Given the description of an element on the screen output the (x, y) to click on. 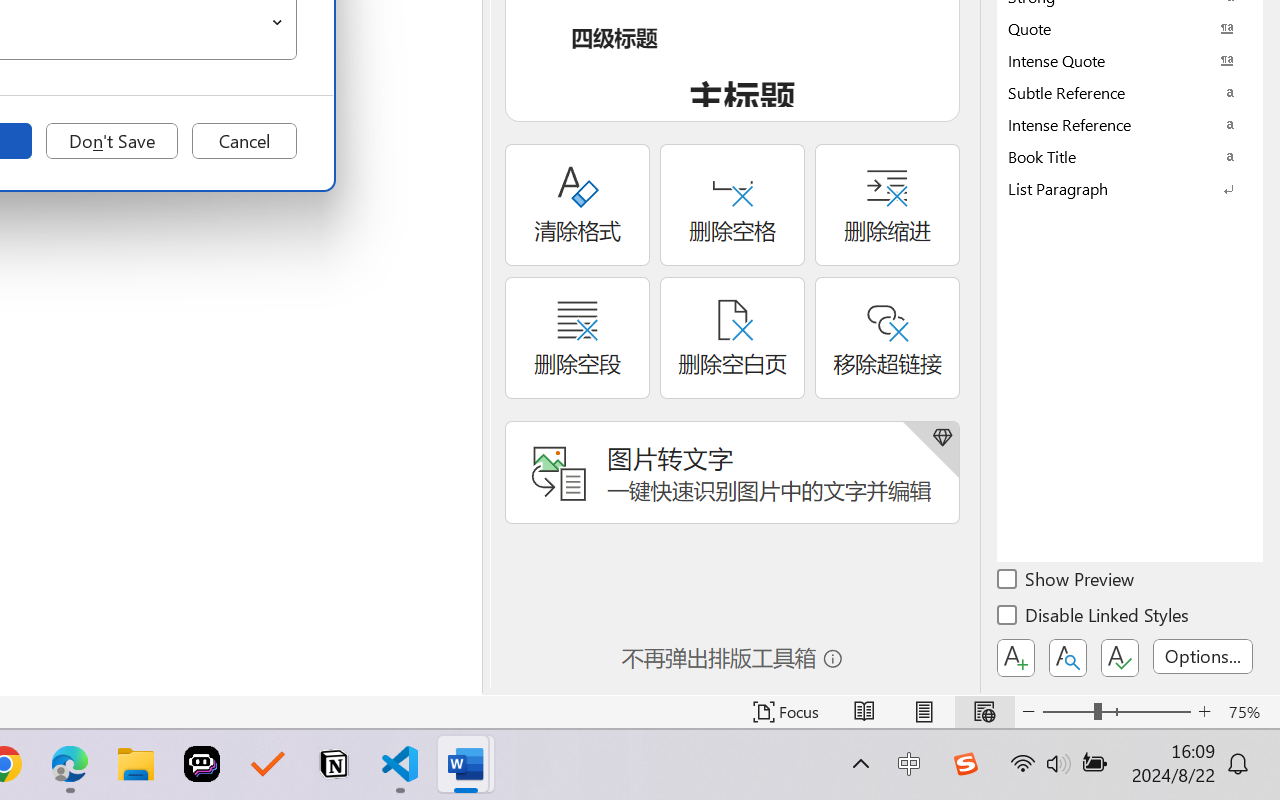
Quote (1130, 28)
List Paragraph (1130, 188)
Focus  (786, 712)
Intense Reference (1130, 124)
Disable Linked Styles (1094, 618)
Read Mode (864, 712)
Don't Save (111, 141)
Intense Quote (1130, 60)
